Given the description of an element on the screen output the (x, y) to click on. 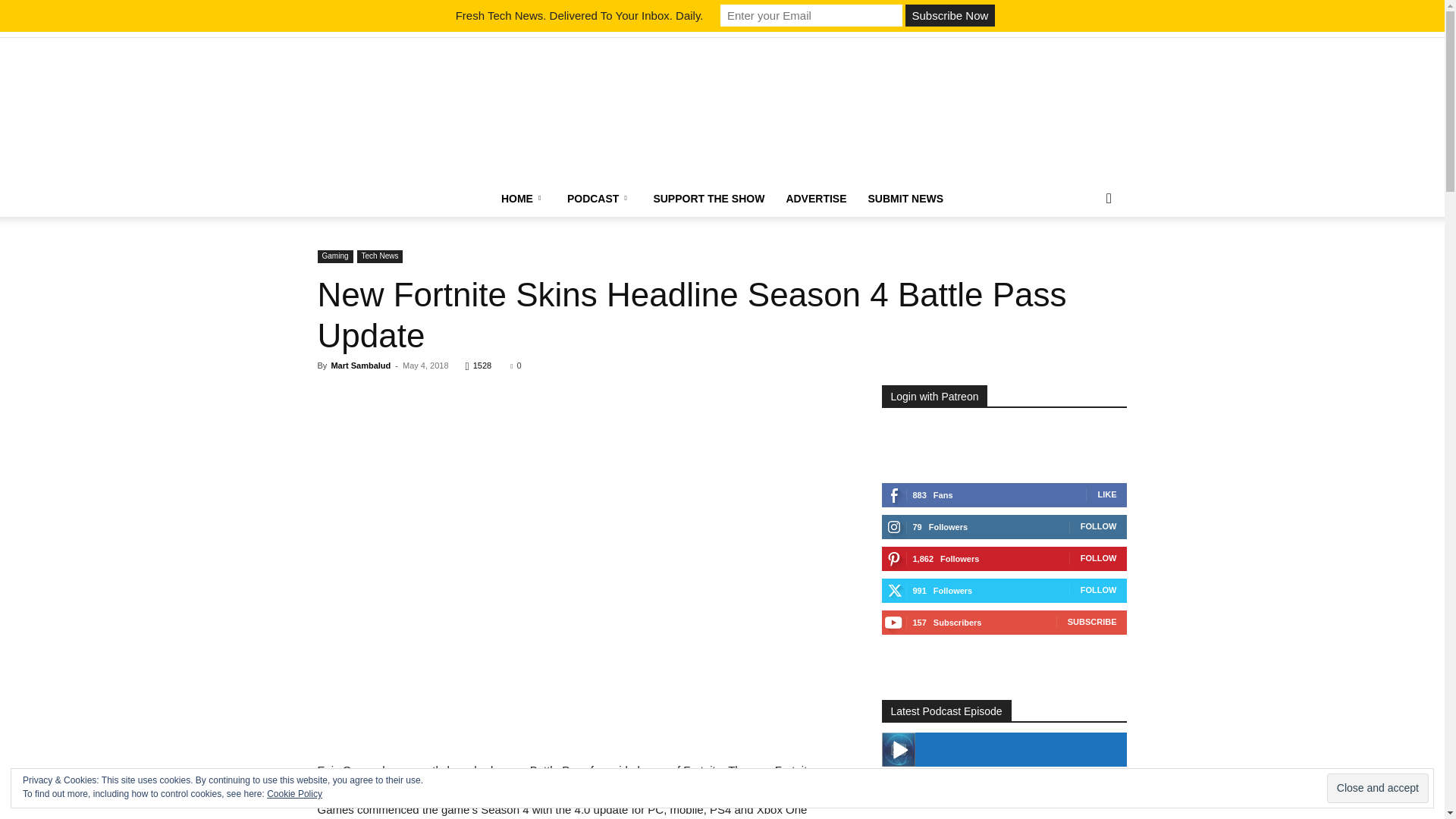
Tech News (379, 26)
PODCAST (599, 198)
Contact Us (523, 26)
Close and accept (1377, 788)
About (427, 26)
Subscribe Now (949, 15)
Latest (328, 26)
HOME (523, 198)
Our Team (470, 26)
